Given the description of an element on the screen output the (x, y) to click on. 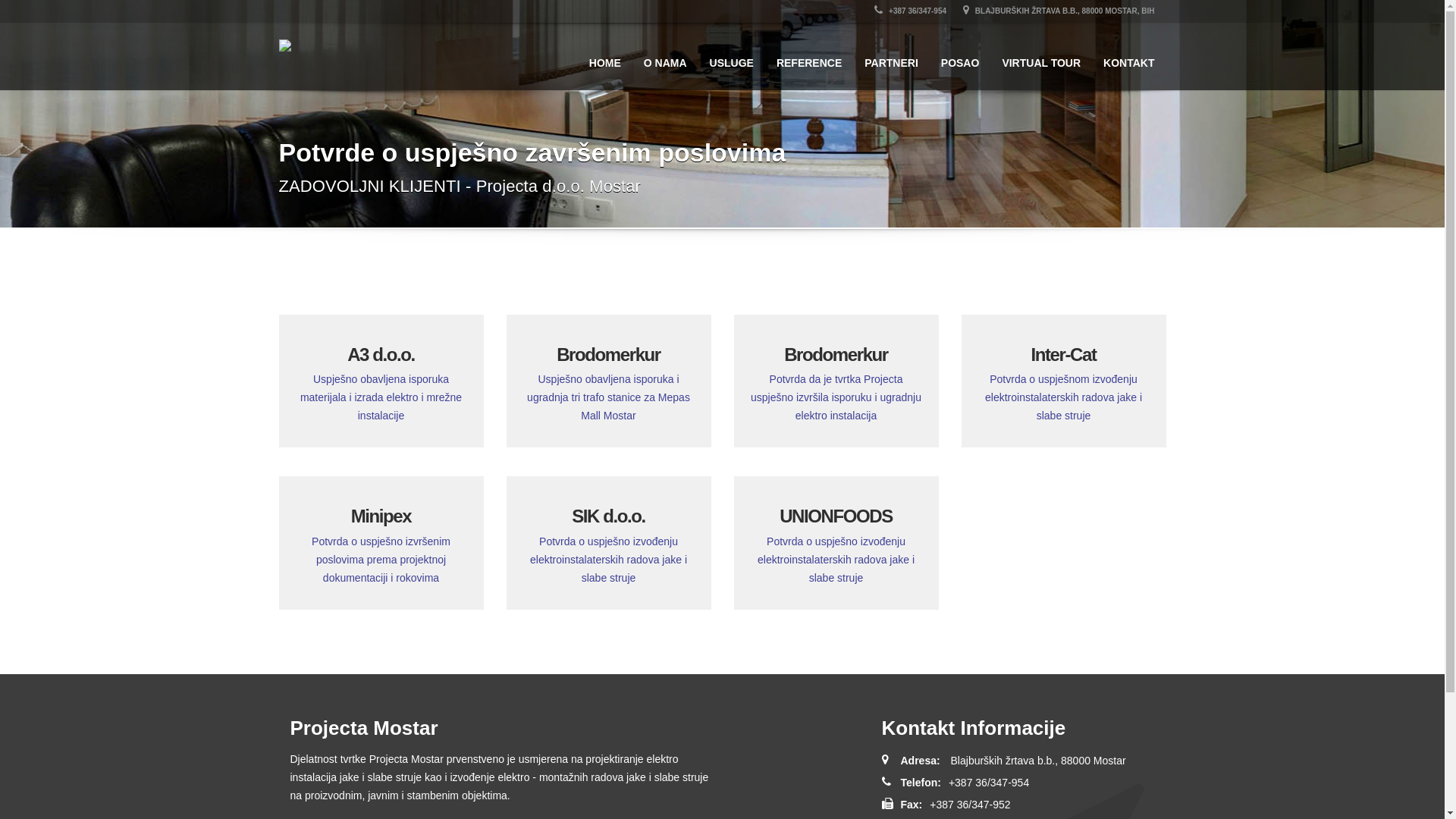
HOME Element type: text (604, 56)
POSAO Element type: text (960, 56)
O NAMA Element type: text (665, 56)
+387 36/347-954 Element type: text (910, 10)
USLUGE Element type: text (731, 56)
PARTNERI Element type: text (891, 56)
VIRTUAL TOUR Element type: text (1041, 56)
KONTAKT Element type: text (1128, 56)
REFERENCE Element type: text (809, 56)
